Given the description of an element on the screen output the (x, y) to click on. 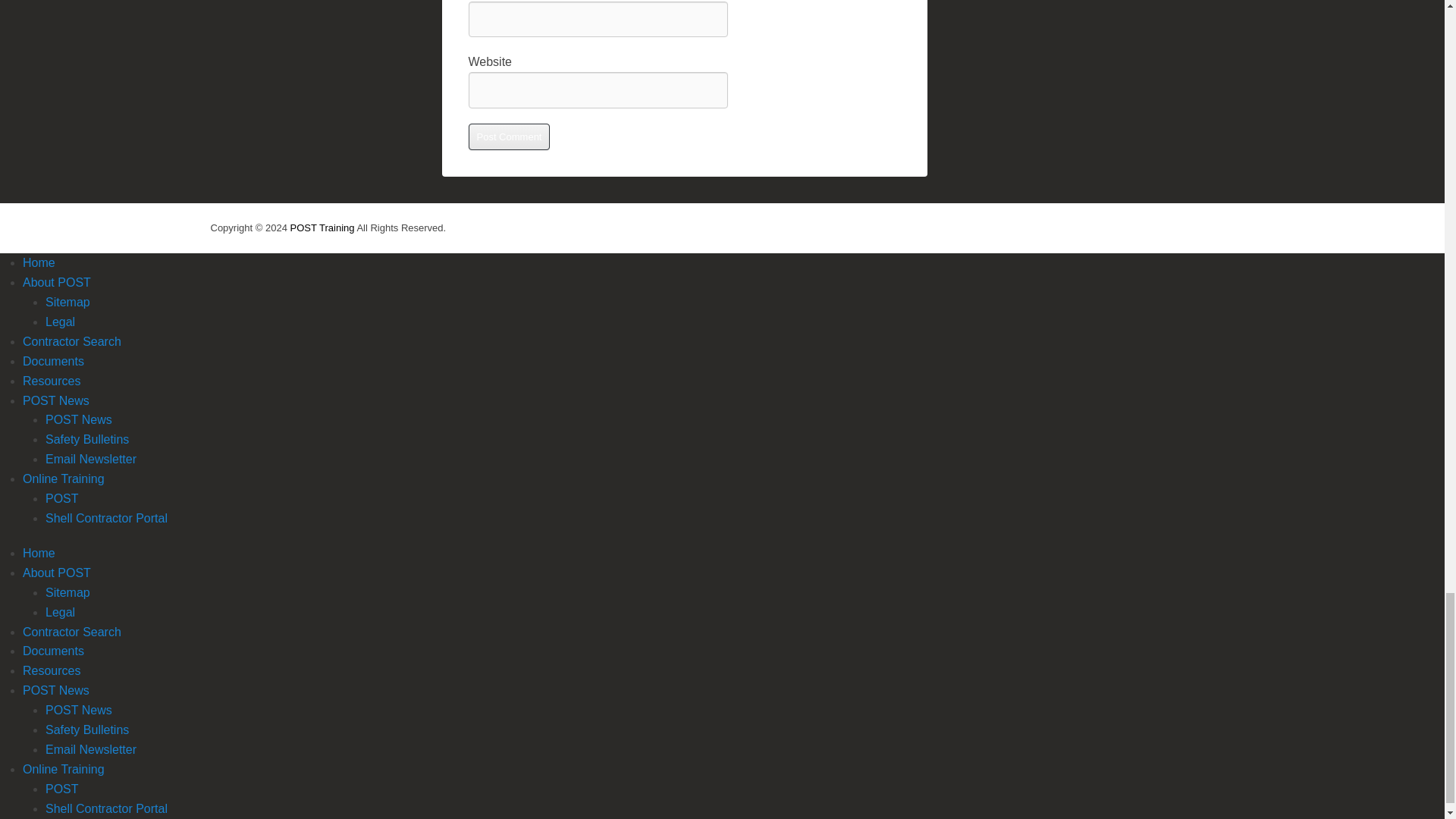
Post Comment (509, 136)
Post Comment (509, 136)
POST Training (321, 227)
